Given the description of an element on the screen output the (x, y) to click on. 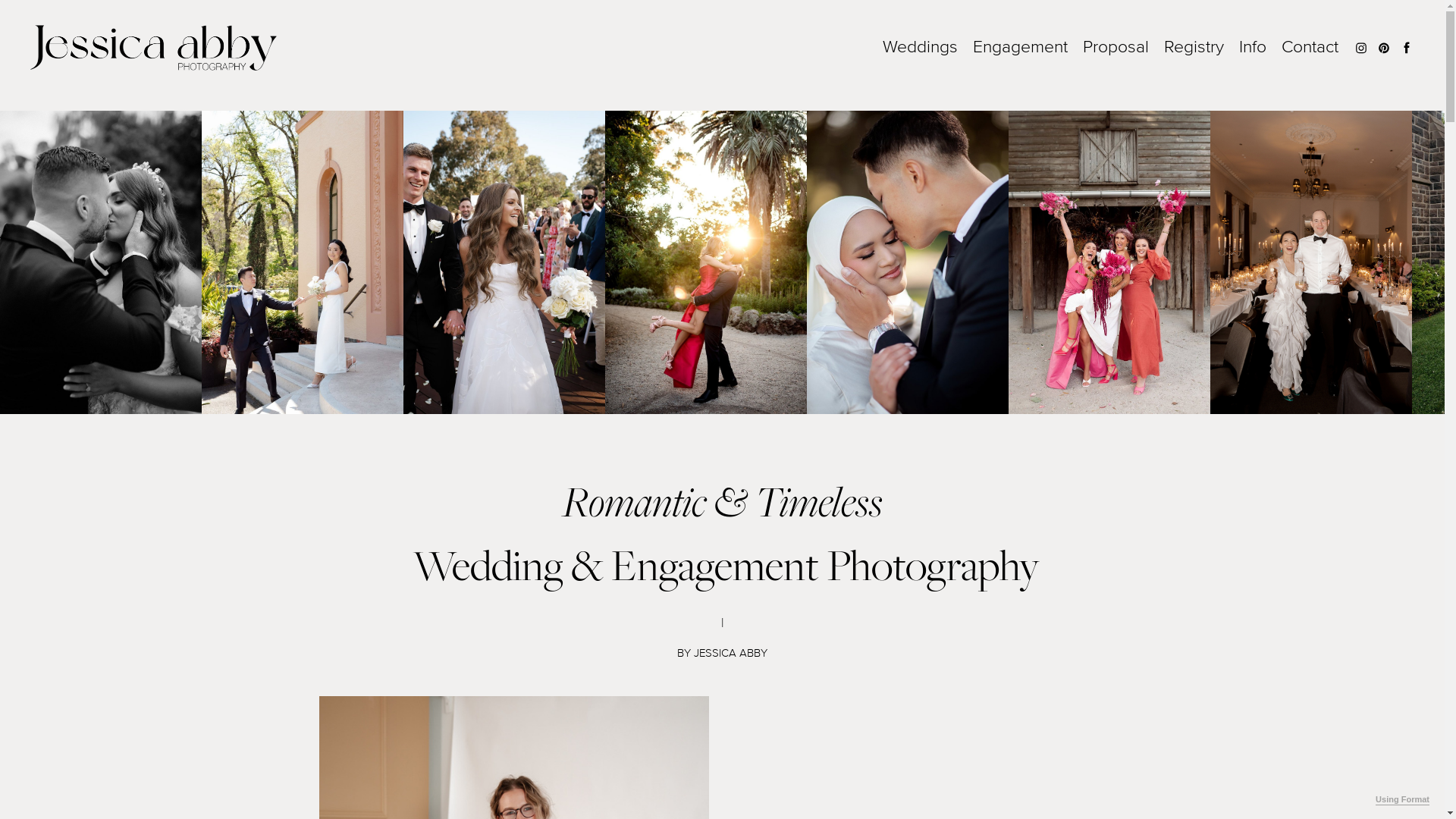
Weddings Element type: text (919, 47)
Contact Element type: text (1309, 47)
Proposal Element type: text (1115, 47)
Info Element type: text (1252, 47)
Pinterest Element type: hover (1383, 46)
Using Format Element type: text (1402, 799)
Facebook Element type: hover (1406, 46)
Registry Element type: text (1193, 47)
Instagram Element type: hover (1361, 46)
Engagement Element type: text (1019, 47)
